Given the description of an element on the screen output the (x, y) to click on. 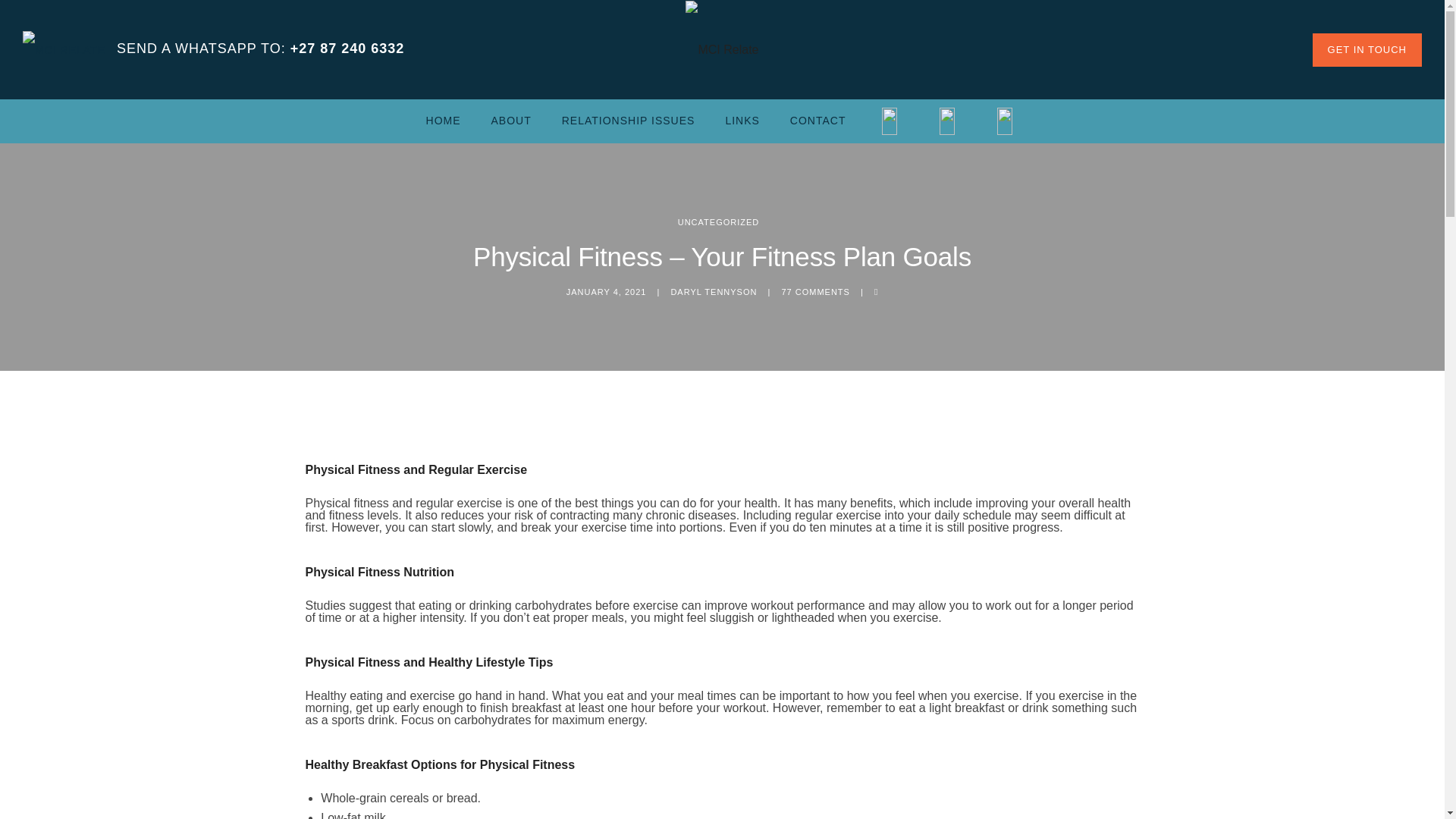
UNCATEGORIZED (719, 221)
GET IN TOUCH (1367, 49)
LINKS (742, 120)
HOME (443, 120)
CONTACT (817, 120)
About (511, 120)
Twitter (946, 121)
RELATIONSHIP ISSUES (628, 120)
Links (742, 120)
Instagram (1004, 121)
